Given the description of an element on the screen output the (x, y) to click on. 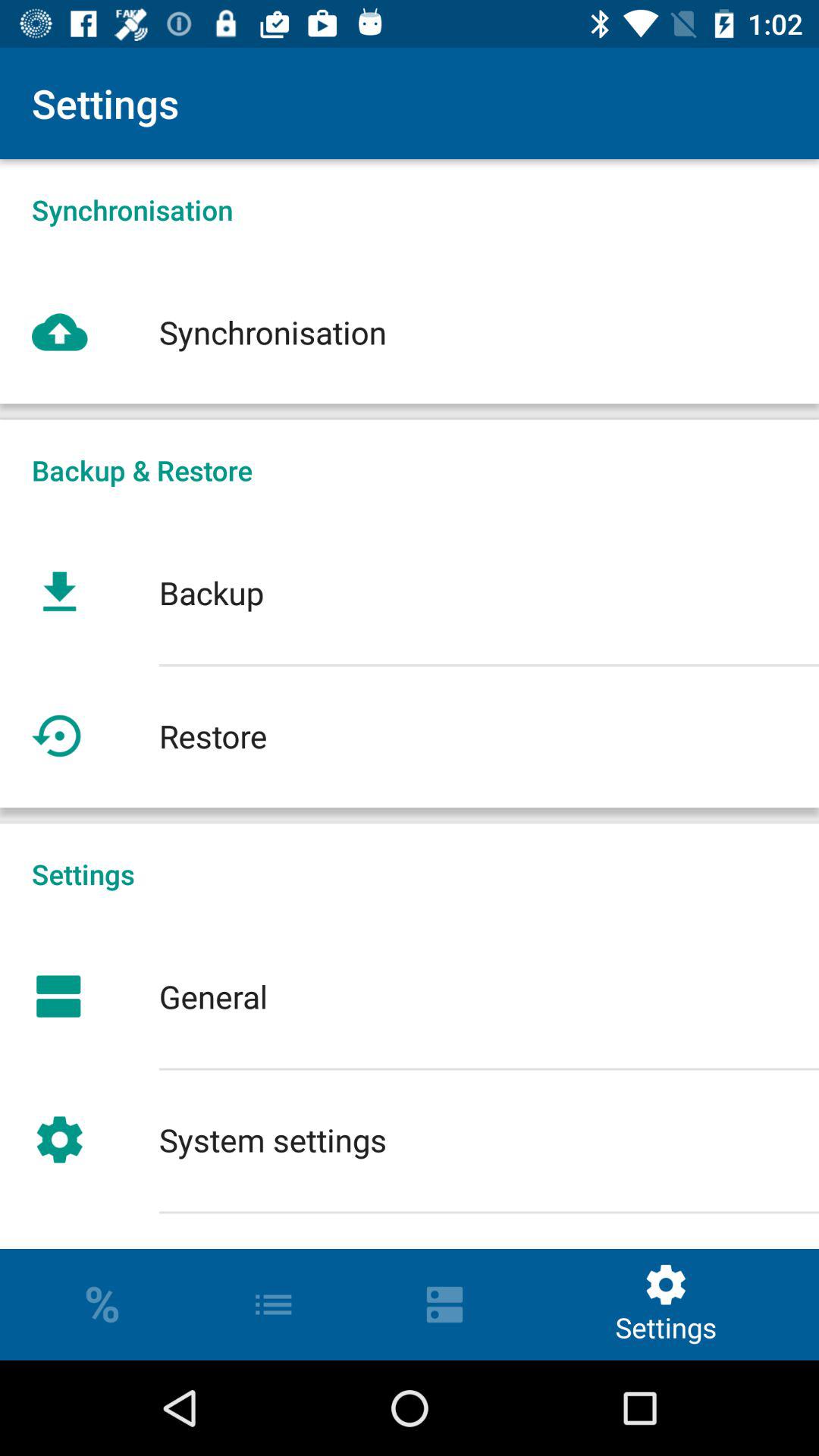
choose icon below system settings icon (409, 1229)
